Given the description of an element on the screen output the (x, y) to click on. 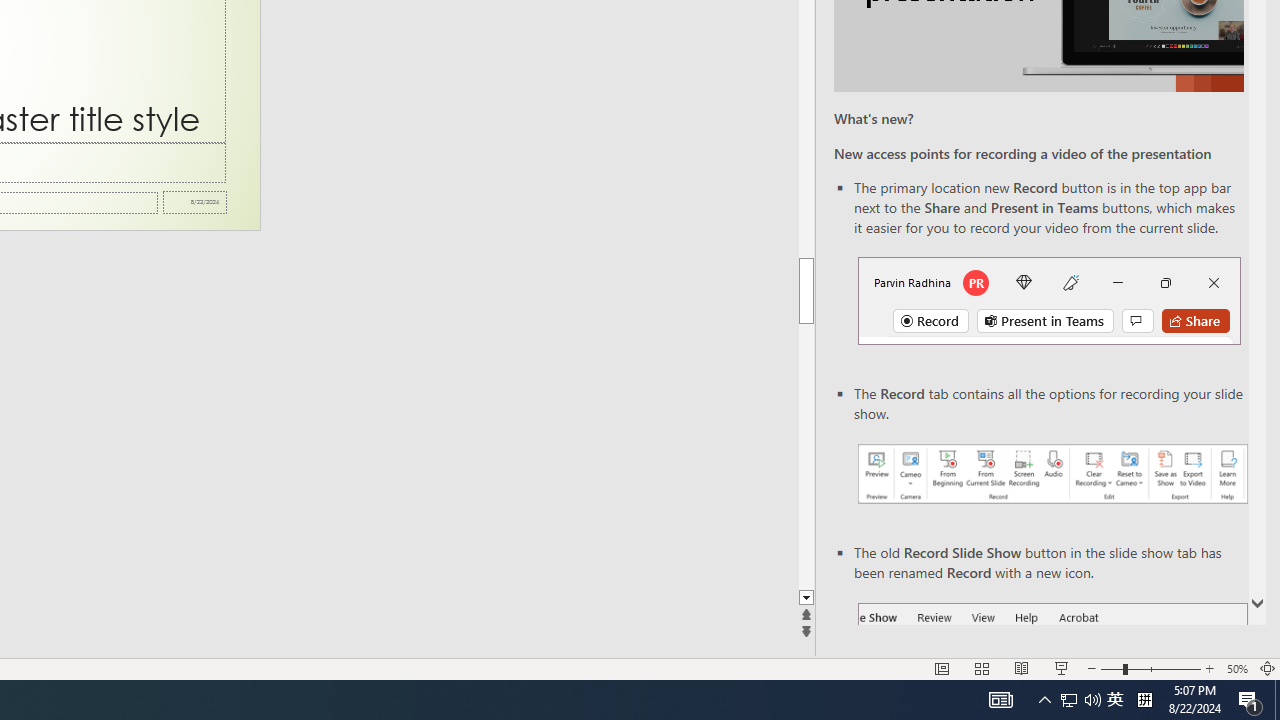
Record your presentations screenshot one (1052, 473)
